Given the description of an element on the screen output the (x, y) to click on. 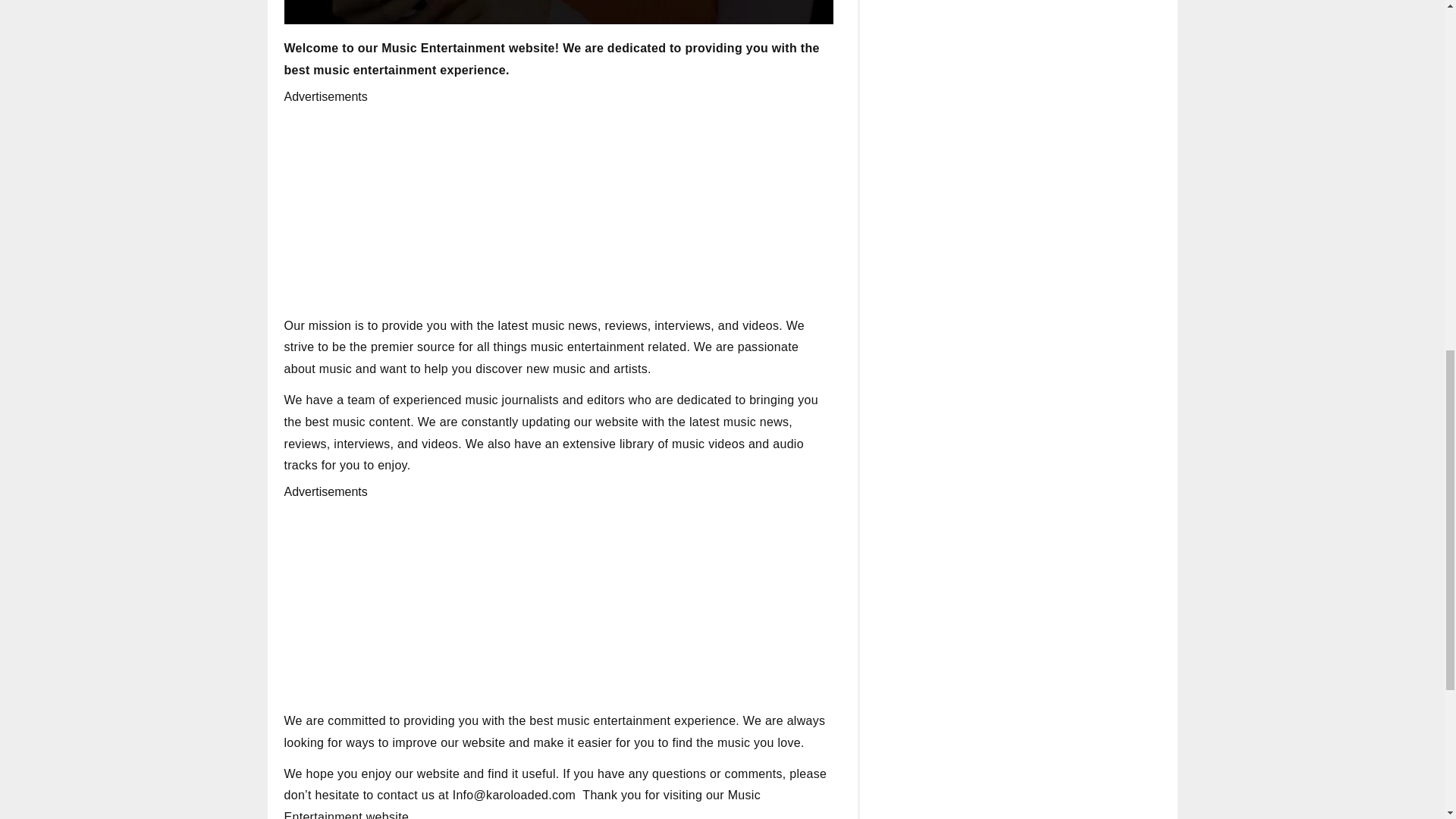
ABOUT US (557, 12)
Advertisement (557, 603)
Advertisement (557, 209)
